Given the description of an element on the screen output the (x, y) to click on. 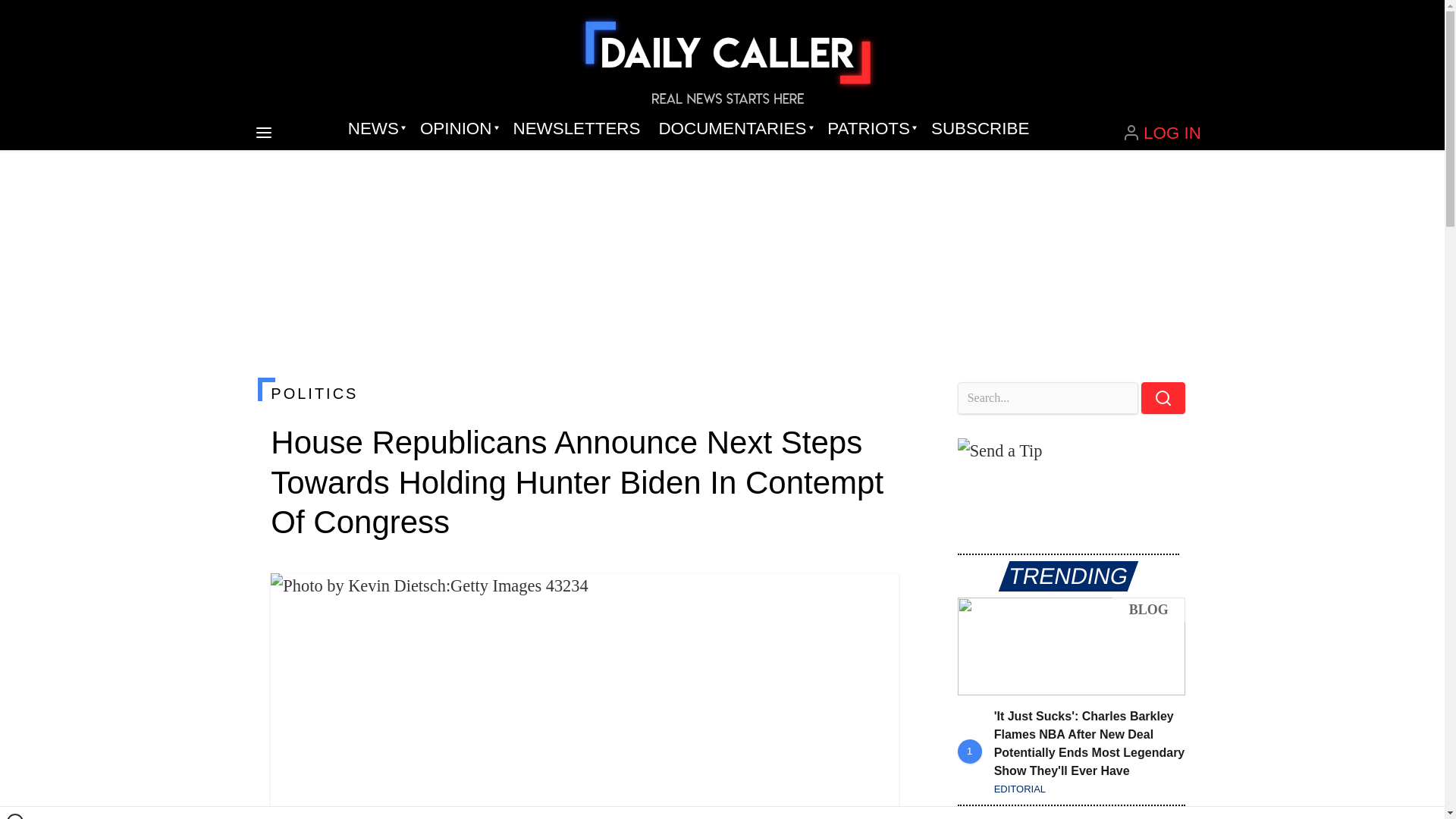
Close window (14, 816)
NEWSLETTERS (576, 128)
PATRIOTS (869, 128)
NEWS (374, 128)
POLITICS (584, 393)
SUBSCRIBE (979, 128)
DOCUMENTARIES (733, 128)
Toggle fullscreen (874, 596)
OPINION (456, 128)
